Given the description of an element on the screen output the (x, y) to click on. 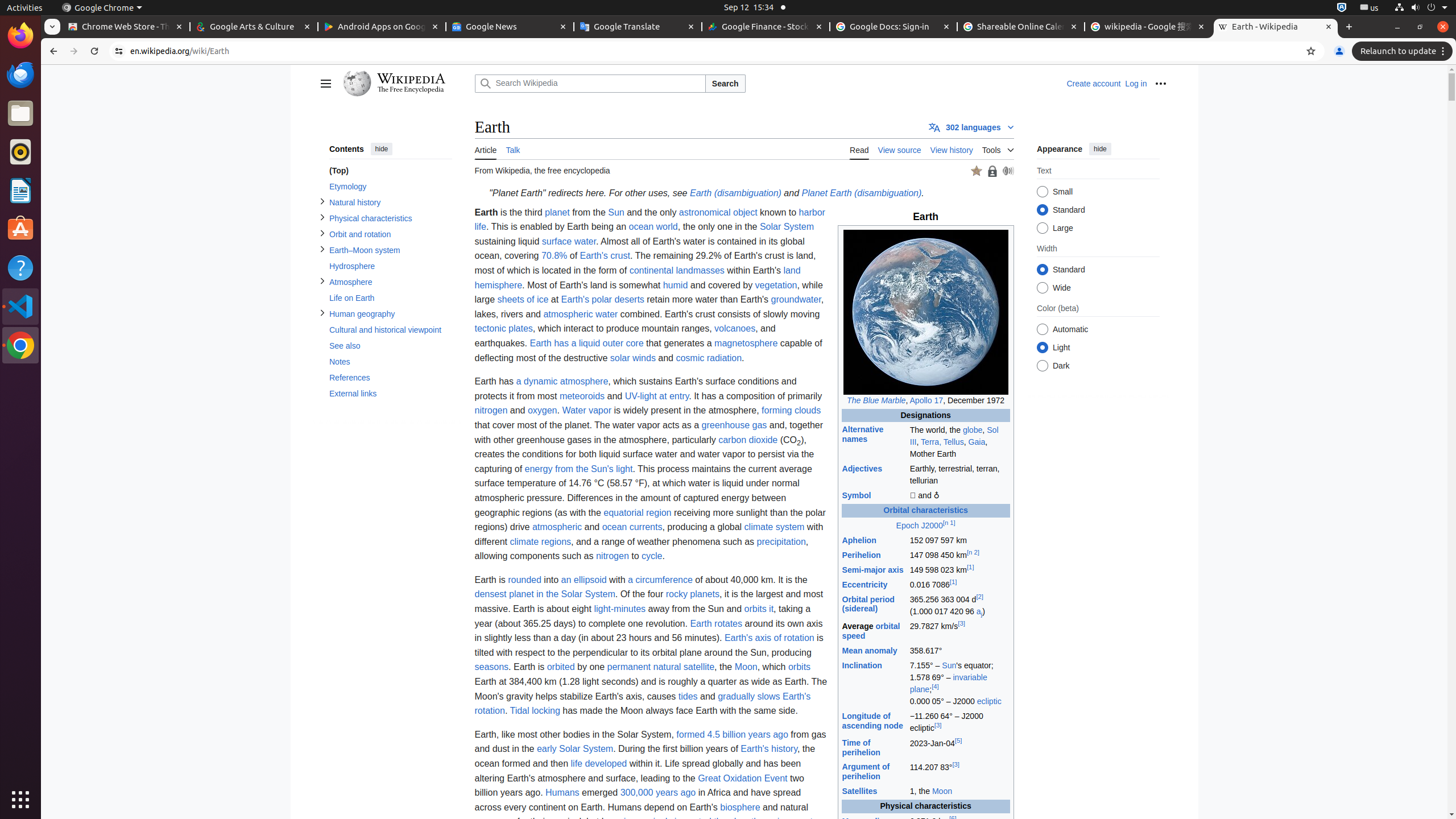
Reload Element type: push-button (94, 50)
planet Element type: link (556, 212)
vegetation Element type: link (775, 284)
orbited Element type: link (560, 667)
volcanoes Element type: link (734, 328)
